Given the description of an element on the screen output the (x, y) to click on. 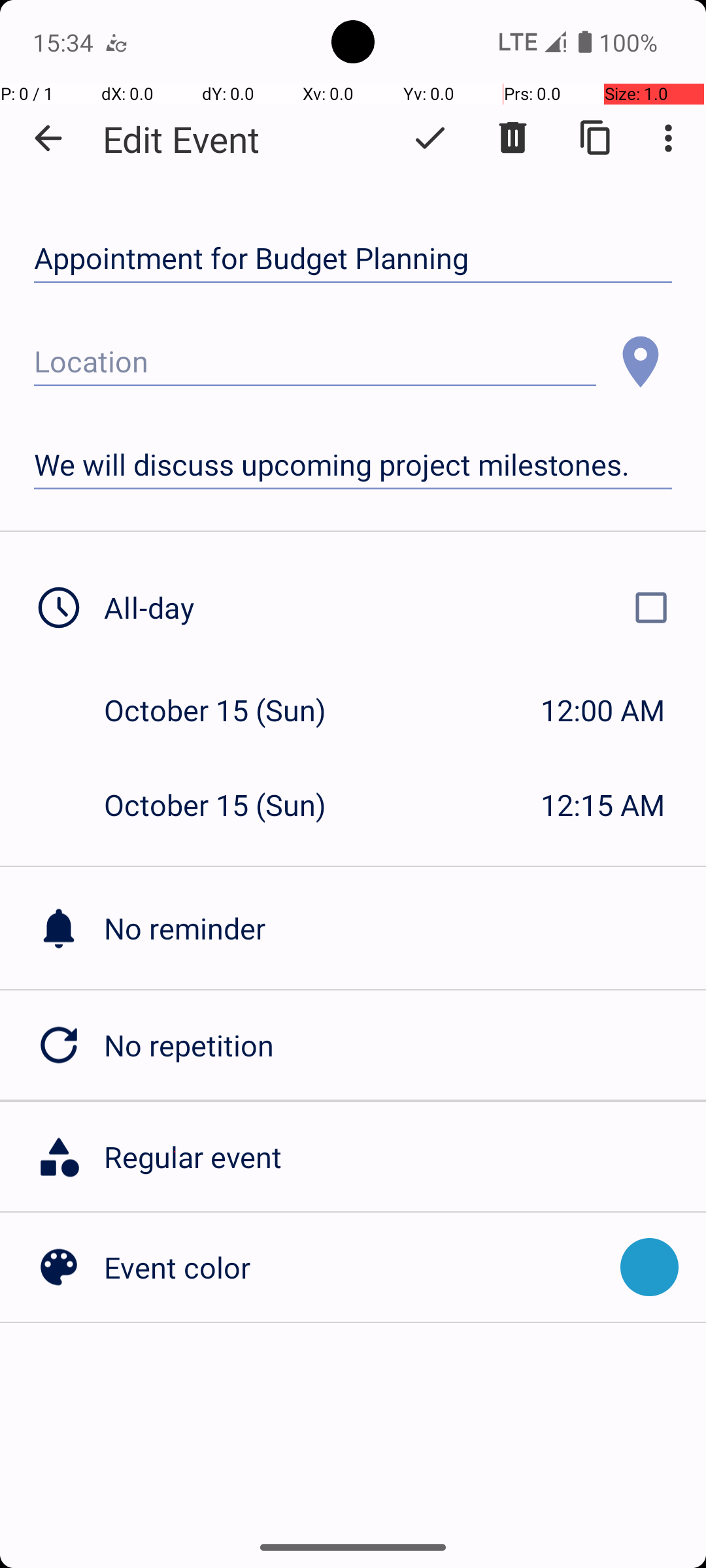
We will discuss upcoming project milestones. Element type: android.widget.EditText (352, 465)
12:00 AM Element type: android.widget.TextView (602, 709)
12:15 AM Element type: android.widget.TextView (602, 804)
